Given the description of an element on the screen output the (x, y) to click on. 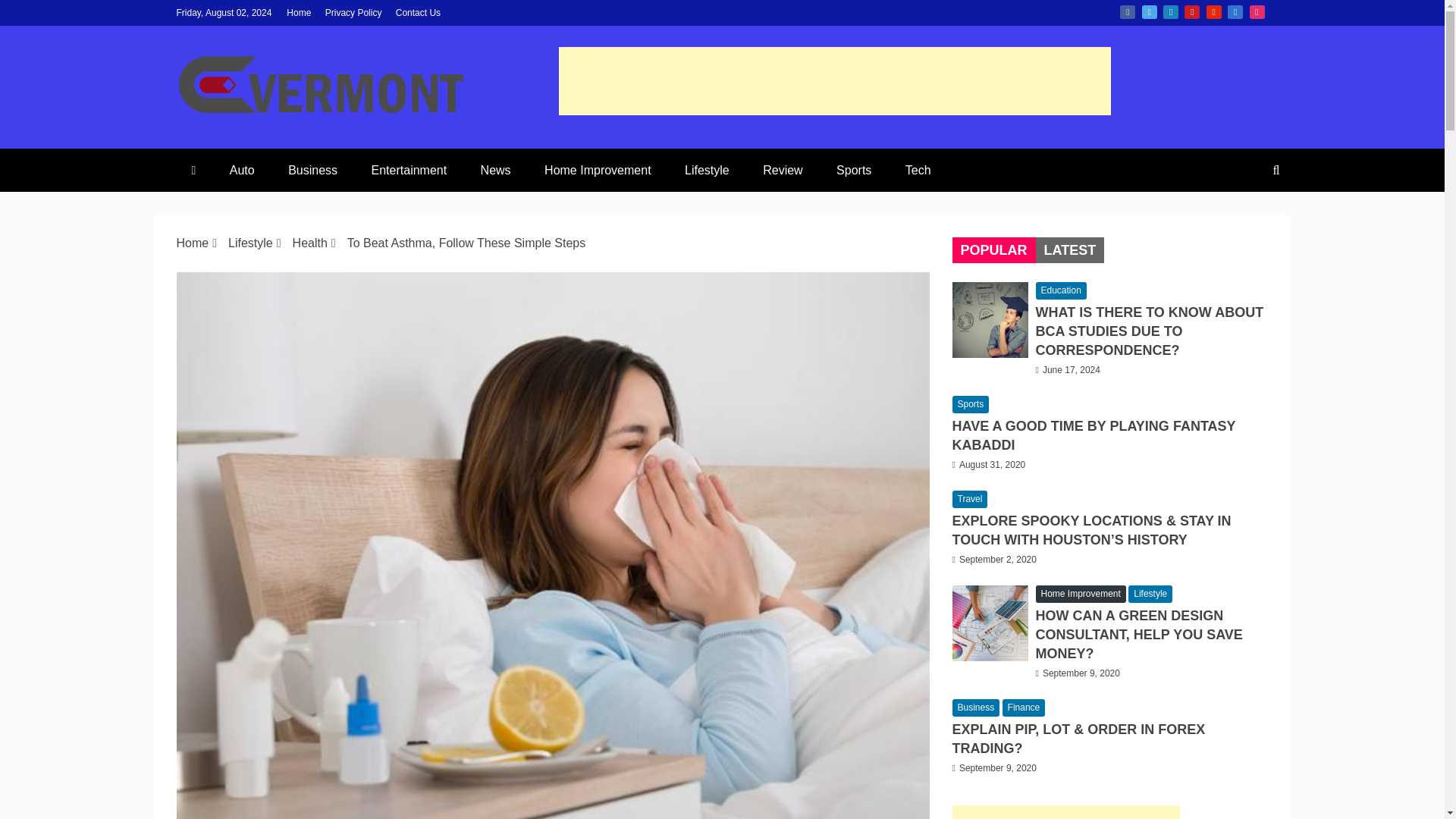
Linkedin (1170, 11)
Auto (241, 169)
Privacy Policy (352, 12)
Vk (1235, 11)
Advertisement (833, 80)
Home Improvement (597, 169)
Lifestyle (706, 169)
EVERMONT (316, 154)
Home (298, 12)
Instagram (1257, 11)
Contact Us (418, 12)
Sports (853, 169)
Health (309, 242)
Facebook (1127, 11)
Review (782, 169)
